Given the description of an element on the screen output the (x, y) to click on. 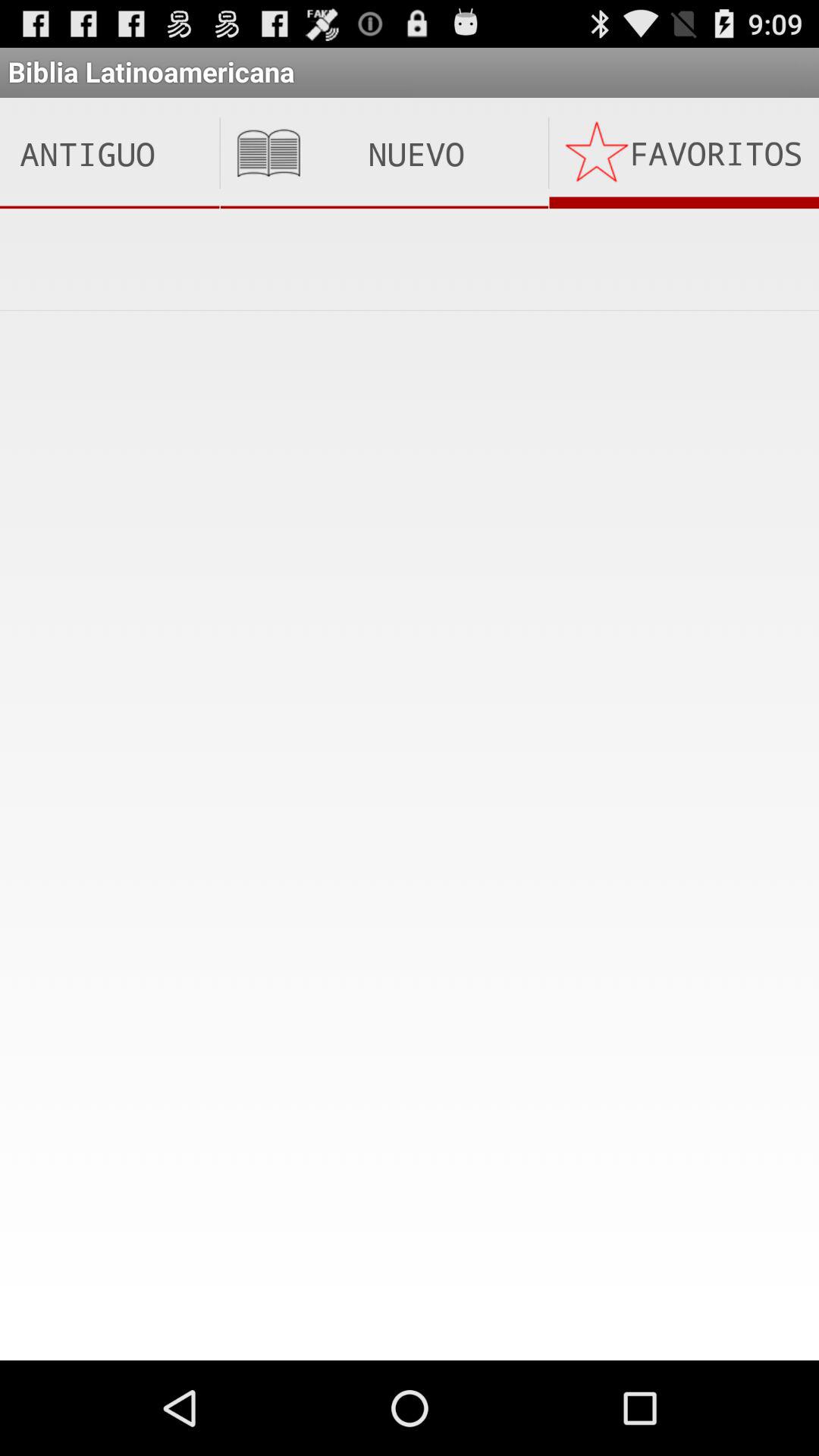
turn on the antiguo testamento item (109, 152)
